Given the description of an element on the screen output the (x, y) to click on. 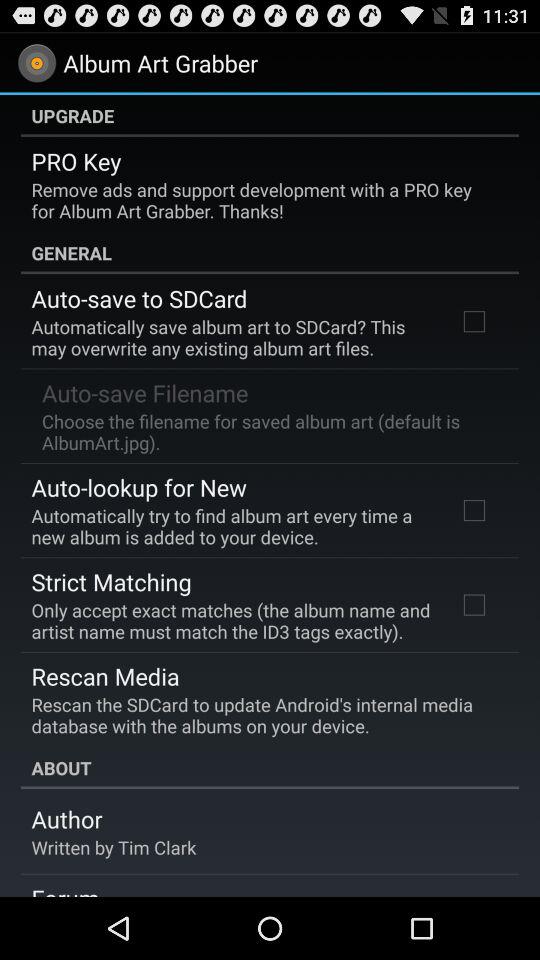
launch app below the choose the filename app (138, 487)
